Given the description of an element on the screen output the (x, y) to click on. 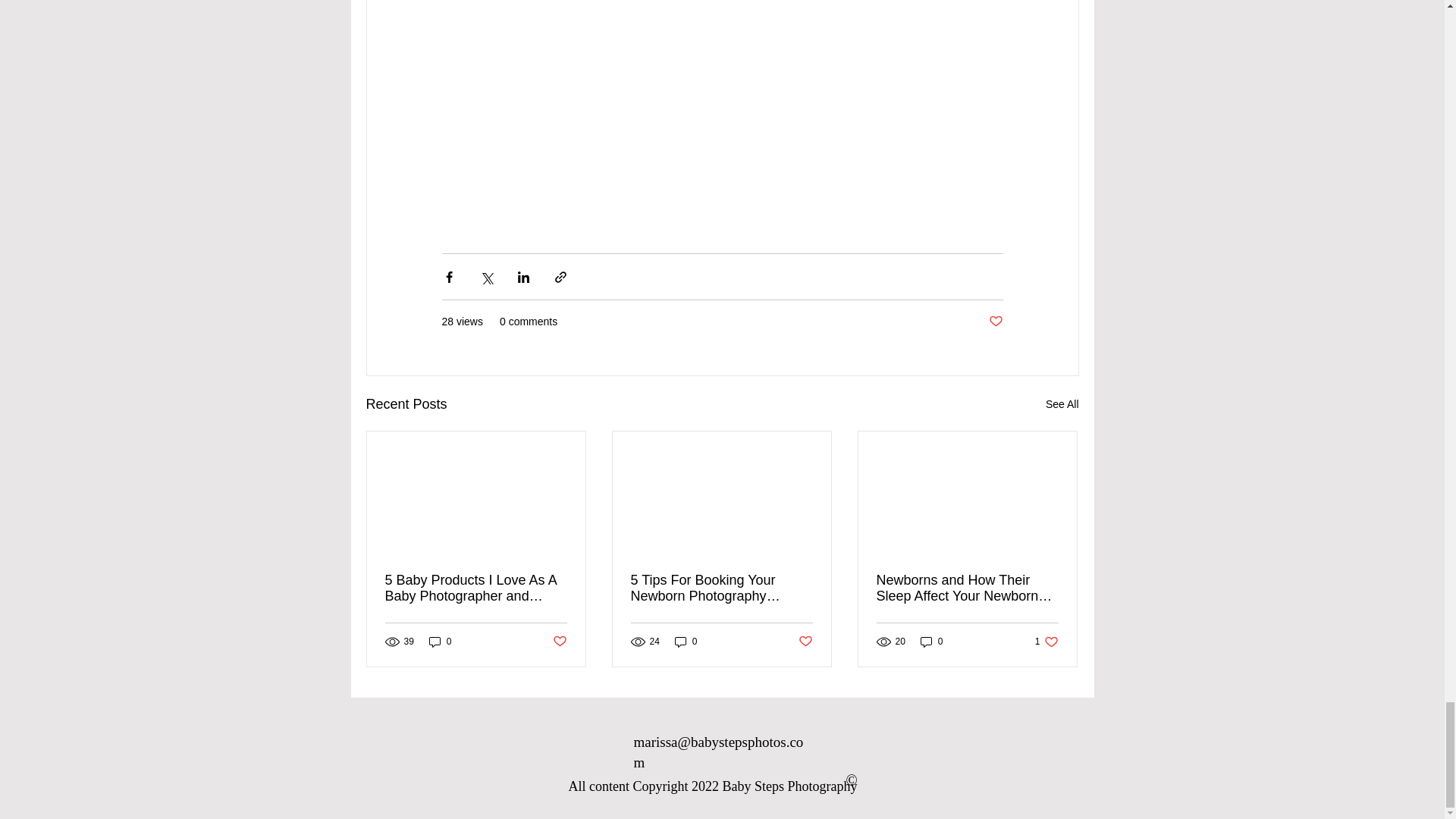
0 (440, 641)
5 Baby Products I Love As A Baby Photographer and Mother (476, 588)
5 Tips For Booking Your Newborn Photography Session (721, 588)
0 (931, 641)
0 (685, 641)
See All (1061, 404)
Post not marked as liked (995, 321)
Post not marked as liked (804, 641)
Post not marked as liked (1046, 641)
